Given the description of an element on the screen output the (x, y) to click on. 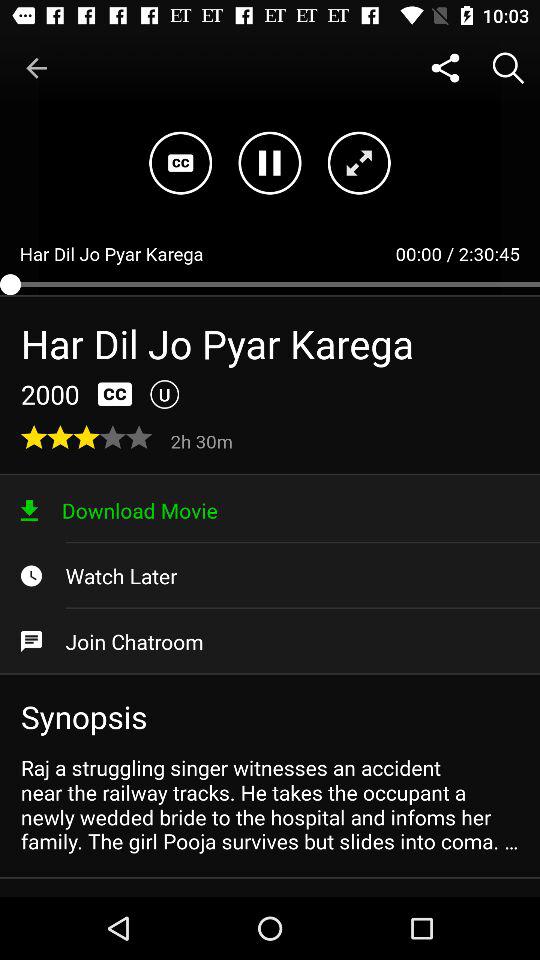
open the icon at the top left corner (36, 68)
